Given the description of an element on the screen output the (x, y) to click on. 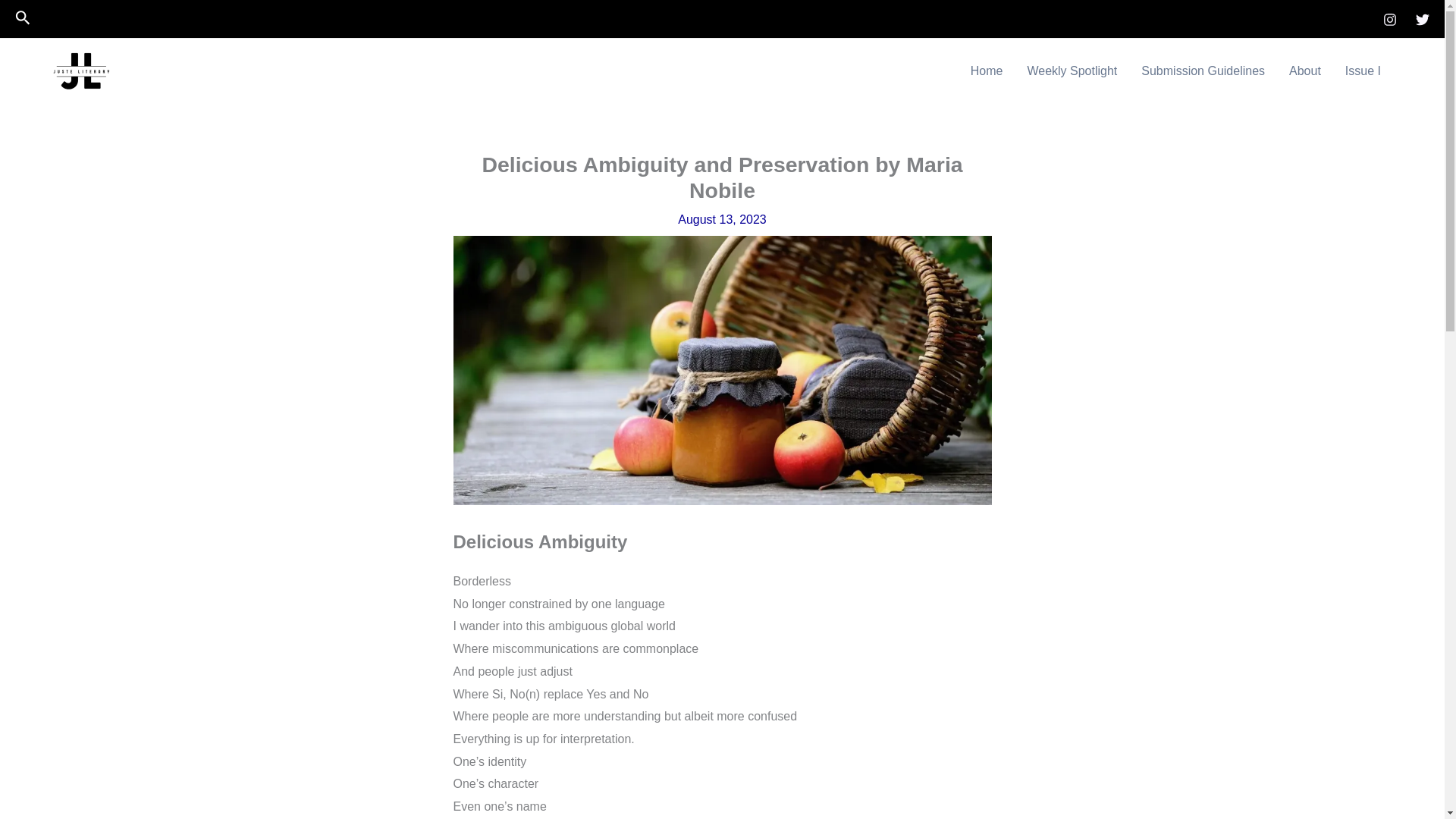
Home (986, 70)
About (1304, 70)
Weekly Spotlight (1071, 70)
Submission Guidelines (1202, 70)
Issue I (1363, 70)
